Given the description of an element on the screen output the (x, y) to click on. 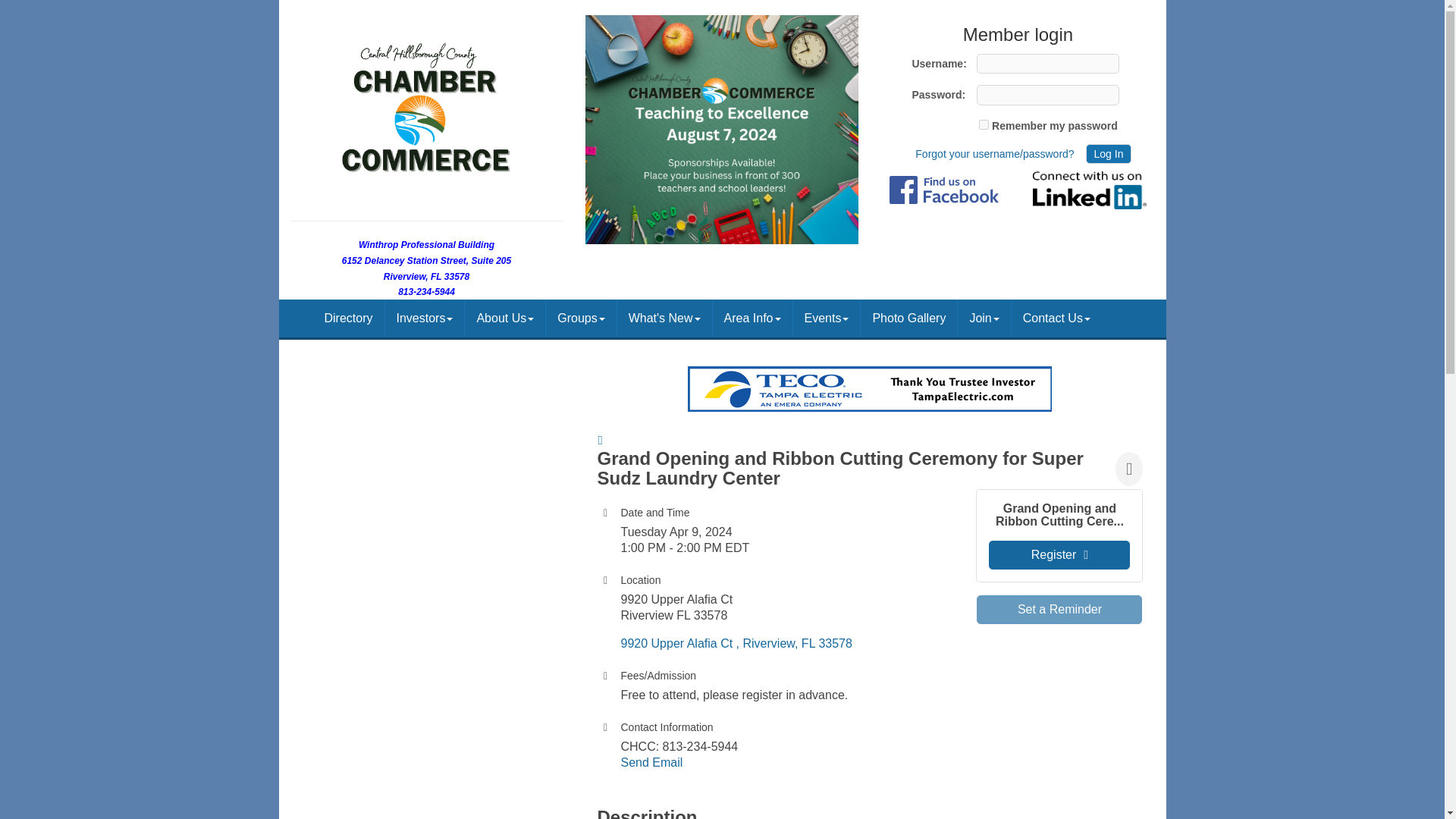
Log In (1109, 153)
Area Info (752, 318)
What's New (664, 318)
Log In (1109, 153)
About Us (504, 318)
Groups (580, 318)
Photo Gallery (908, 318)
Events (826, 318)
Investors (424, 318)
Directory (348, 318)
Join (984, 318)
True (983, 124)
